Given the description of an element on the screen output the (x, y) to click on. 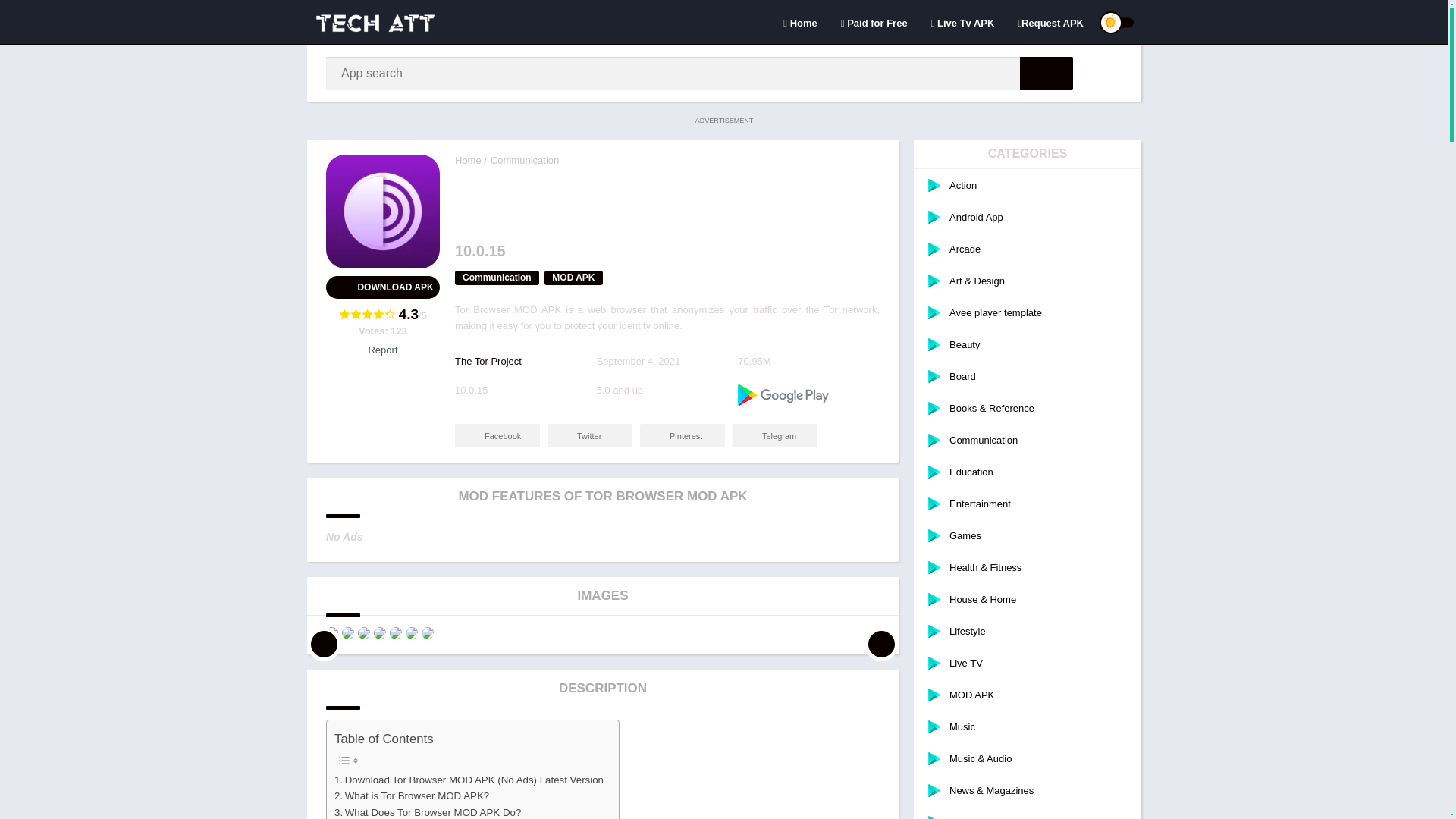
Twitter (589, 435)
Pinterest (682, 435)
What is Tor Browser MOD APK? (411, 795)
What Does Tor Browser MOD APK Do? (427, 811)
Tech Att (467, 160)
Home (467, 160)
Communication (496, 278)
Facebook (497, 435)
The Tor Project (487, 360)
Download APK (382, 287)
Communication (524, 160)
Telegram (774, 435)
DOWNLOAD APK (382, 287)
App search (1046, 73)
What Does Tor Browser MOD APK Do? (427, 811)
